Given the description of an element on the screen output the (x, y) to click on. 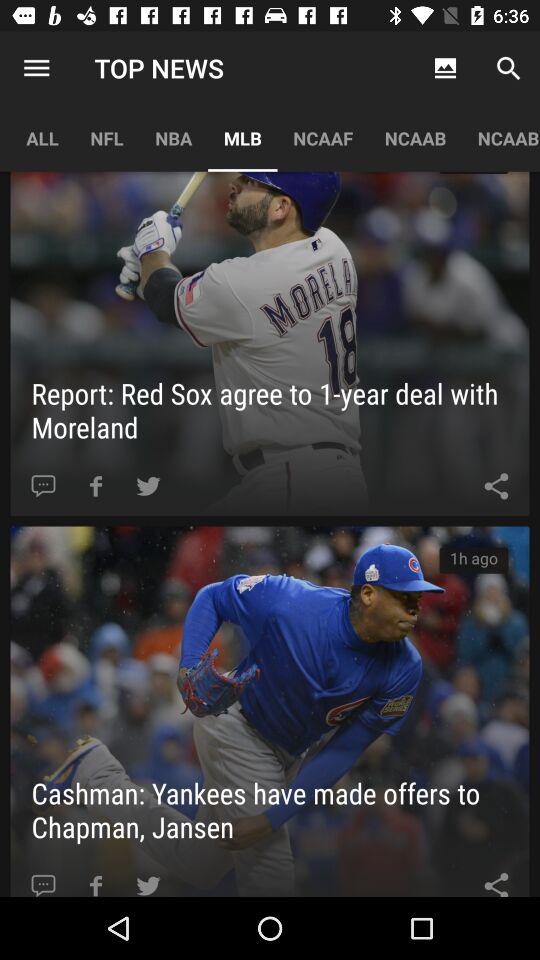
launch the app above the ncaab app (444, 67)
